Given the description of an element on the screen output the (x, y) to click on. 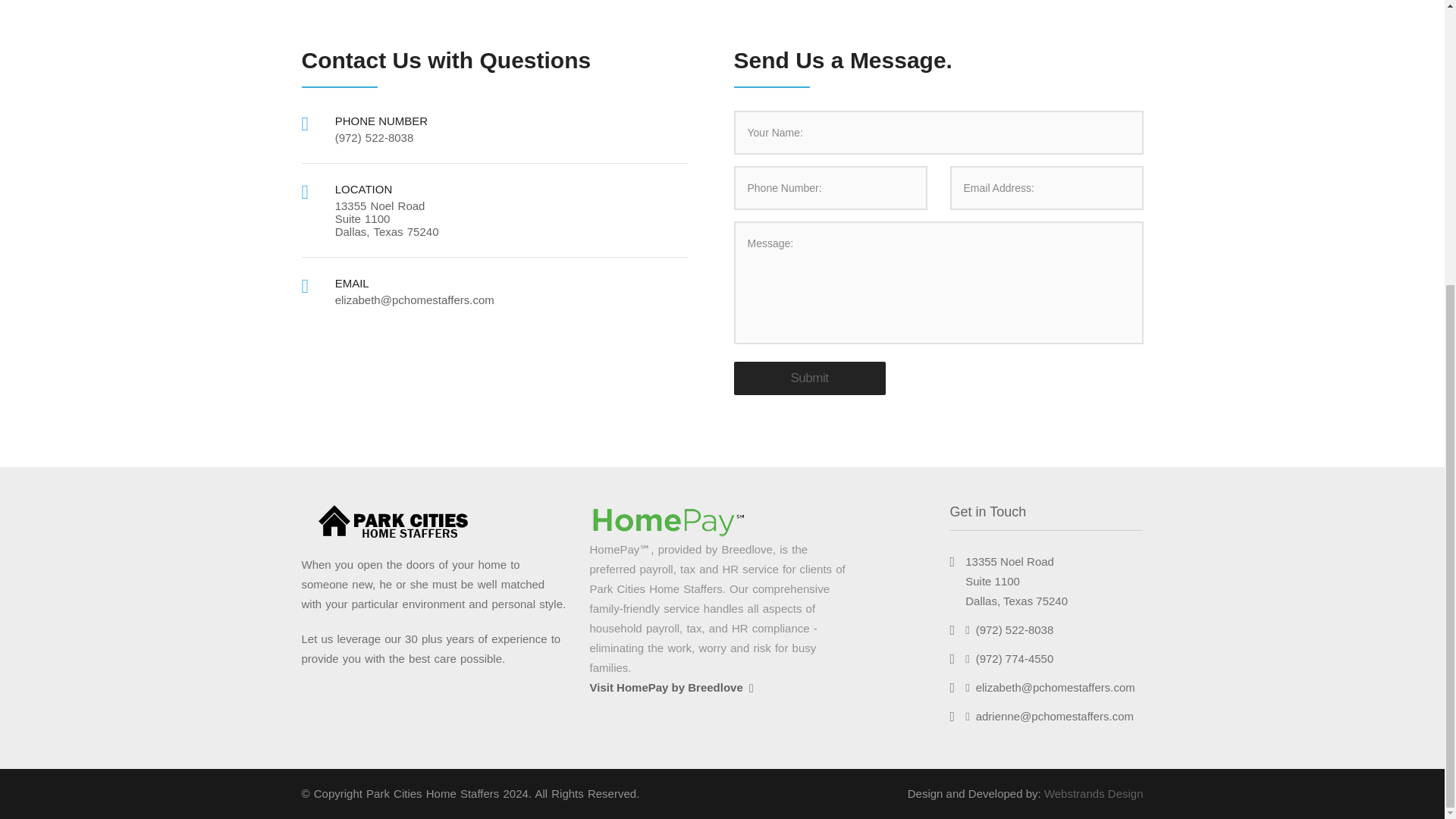
Webstrands Design (1092, 793)
Visit HomePay by Breedlove (670, 686)
Submit (809, 377)
